Given the description of an element on the screen output the (x, y) to click on. 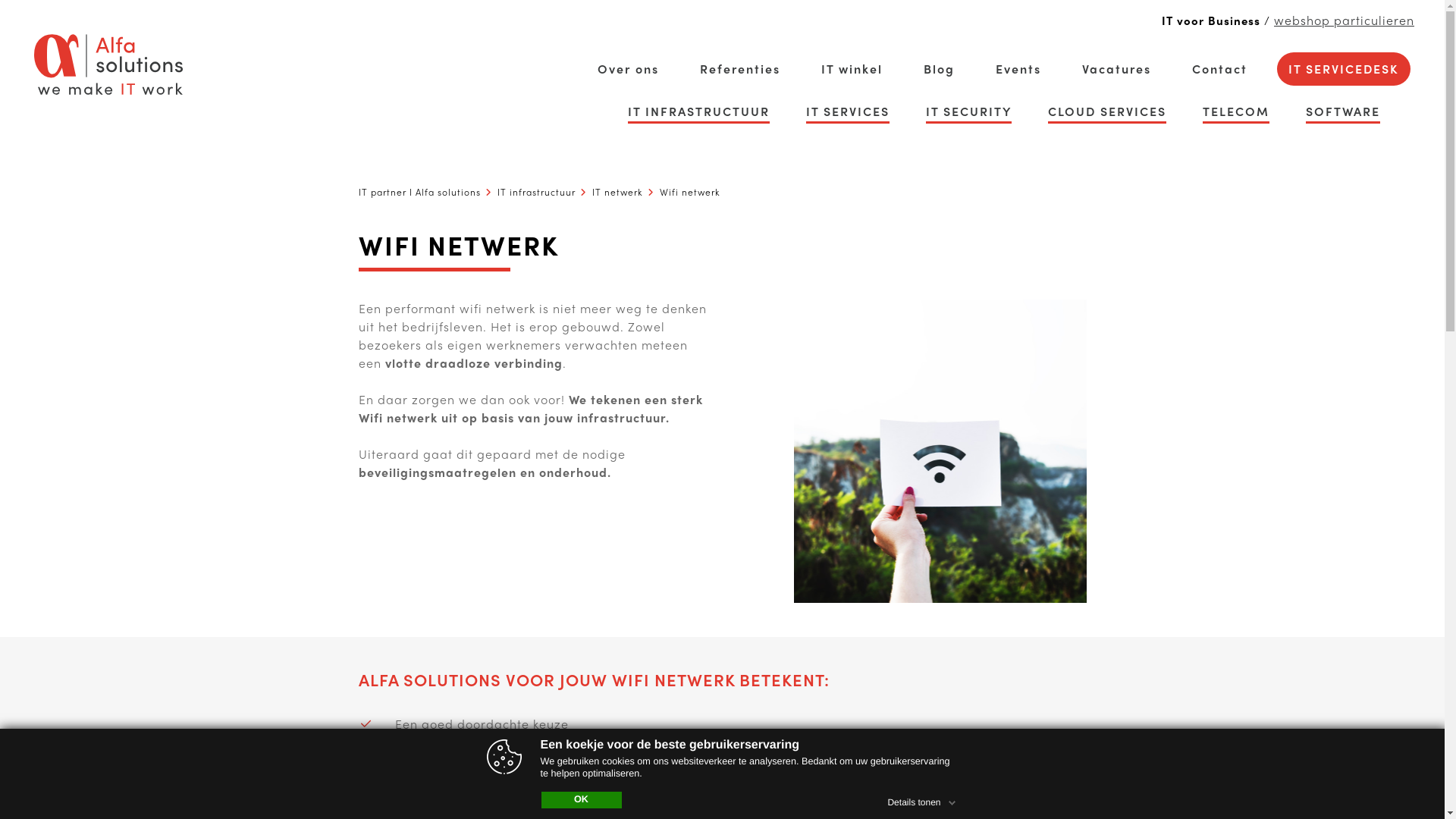
Events Element type: text (1018, 68)
IT winkel Element type: text (851, 68)
Referenties Element type: text (739, 68)
IT SECURITY Element type: text (968, 111)
IT infrastructuur Element type: text (536, 191)
IT INFRASTRUCTUUR Element type: text (698, 111)
CLOUD SERVICES Element type: text (1107, 111)
alfa solutions logo Element type: hover (108, 64)
Wifi netwerk Element type: text (689, 191)
TELECOM Element type: text (1235, 111)
Details tonen Element type: text (922, 799)
Vacatures Element type: text (1116, 68)
IT partner I Alfa solutions Element type: text (418, 191)
Blog Element type: text (938, 68)
OK Element type: text (581, 799)
wifi-netwerk Element type: hover (939, 450)
IT netwerk Element type: text (616, 191)
Over ons Element type: text (627, 68)
IT SERVICES Element type: text (847, 111)
webshop particulieren Element type: text (1344, 19)
Contact Element type: text (1219, 68)
IT SERVICEDESK Element type: text (1343, 68)
SOFTWARE Element type: text (1342, 111)
